Given the description of an element on the screen output the (x, y) to click on. 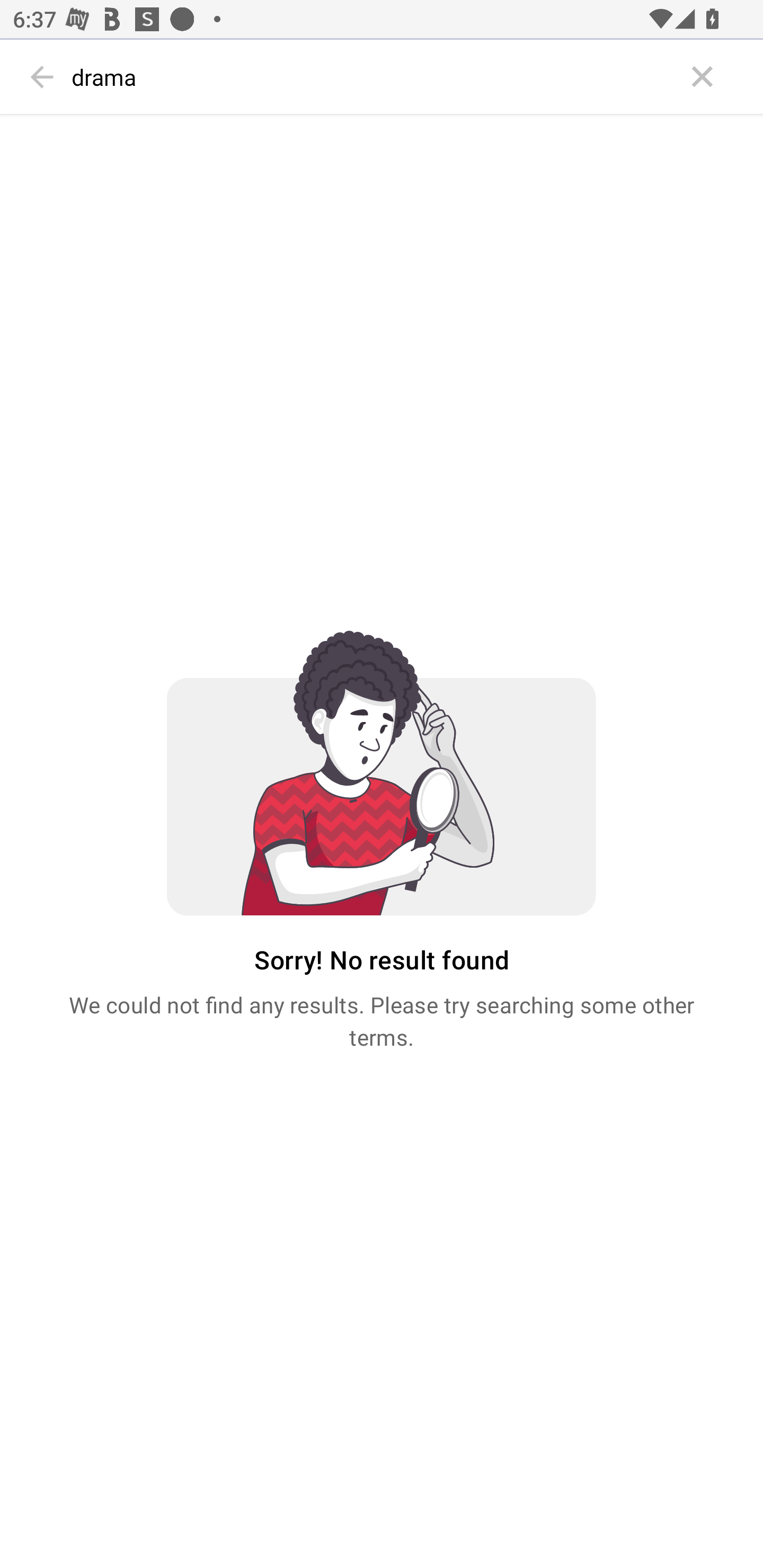
Back (42, 76)
drama (373, 76)
Close (702, 76)
